Given the description of an element on the screen output the (x, y) to click on. 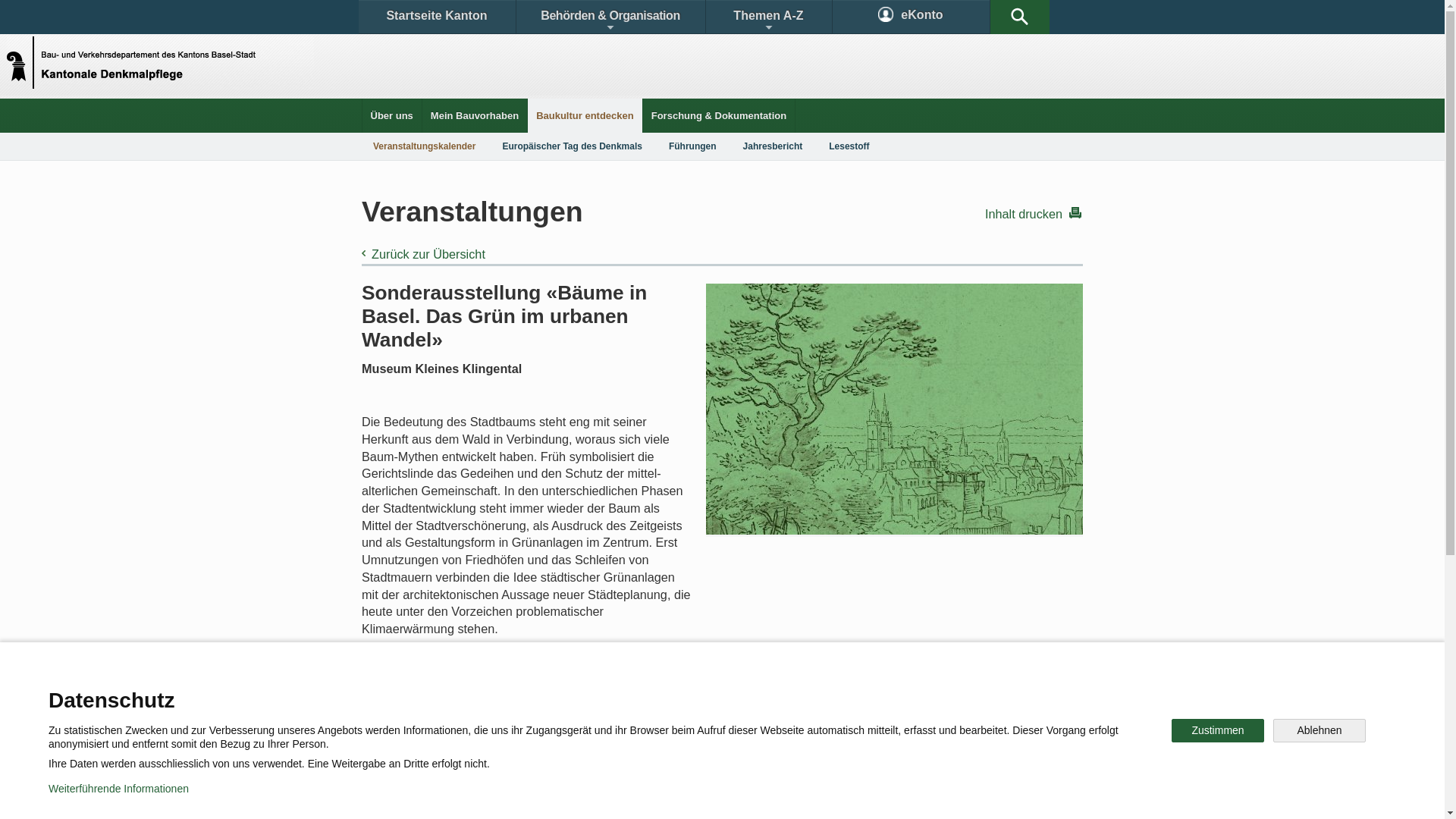
Forschung & Dokumentation Element type: text (718, 115)
Facebook Element type: text (547, 746)
Zustimmen Element type: text (1217, 730)
Kontakt Element type: text (406, 693)
Mein Bauvorhaben Element type: text (474, 115)
Veranstaltungskalender Element type: text (423, 145)
Instagram Element type: text (738, 746)
Statistiken Element type: text (687, 693)
Ablehnen Element type: text (1319, 730)
Inhalt drucken Element type: text (1033, 214)
Themen A-Z Element type: text (768, 17)
Zur mobilen Ansicht Element type: text (752, 796)
Gesetze Element type: text (597, 693)
Stadtplan & Karte Element type: text (504, 693)
Startseite Kanton Element type: text (435, 17)
Twitter Element type: text (642, 746)
Baukultur entdecken Element type: text (584, 115)
Nutzungsregelungen Element type: text (542, 796)
Lesestoff Element type: text (848, 145)
Jahresbericht Element type: text (772, 145)
Publikationen Element type: text (795, 693)
eKonto Element type: text (910, 17)
Impressum Element type: text (648, 796)
